Given the description of an element on the screen output the (x, y) to click on. 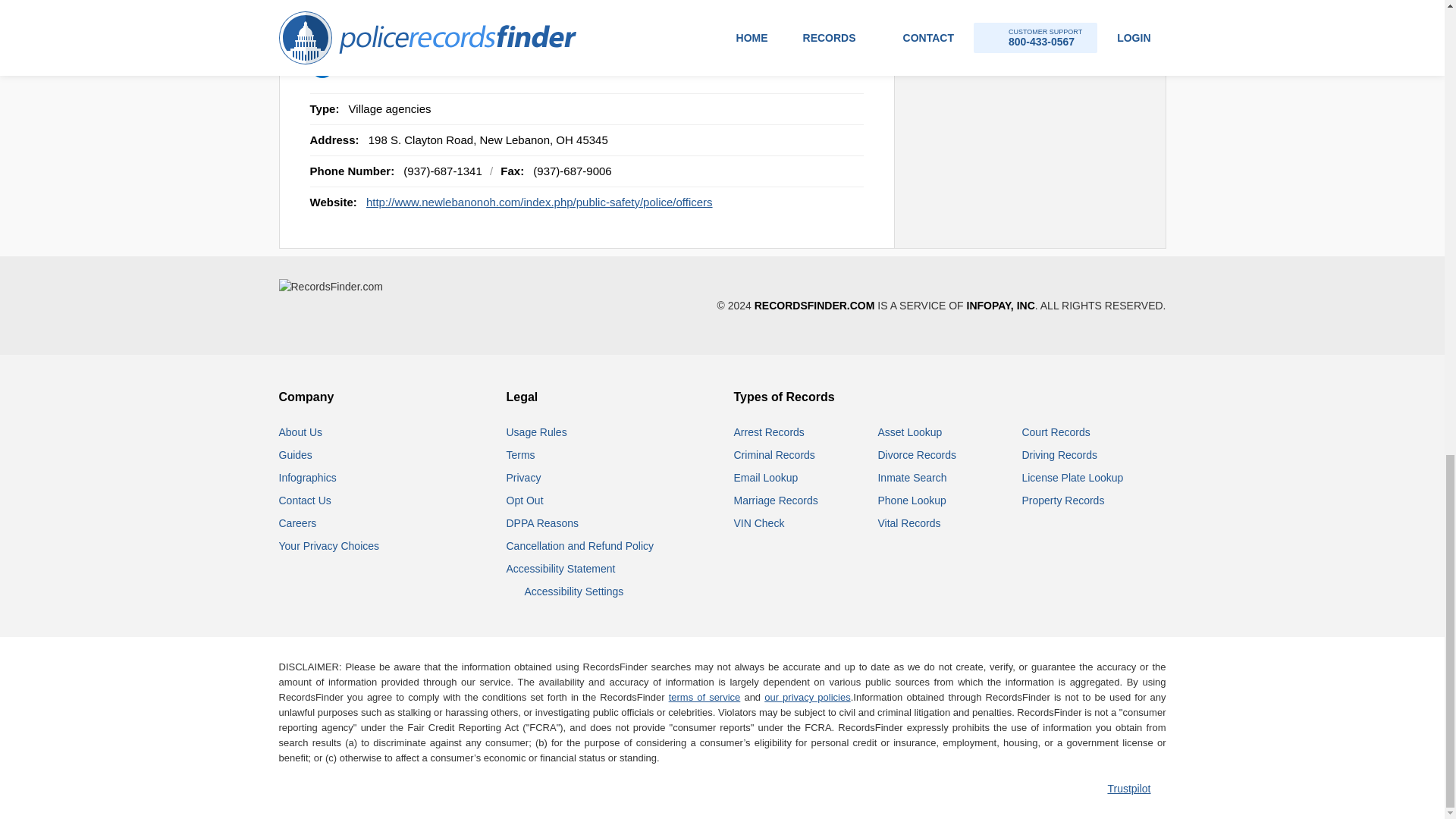
RecordsFinder.com Cancellation and Refund Policy (579, 545)
Guides and How tos (296, 454)
RecordsFinder.com Accessibility Statement (560, 568)
RecordsFinder.com DPPA Reasons (542, 522)
Contact RecordsFinder.com (305, 500)
View Public Records Infographics and Statistics (307, 477)
RecordsFinder.com Usage Rules (536, 431)
RecordsFinder.com Opt Out Instructions (524, 500)
RecordsFinder.com Terms and Conditions (520, 454)
Your Privacy Choices (329, 545)
